Given the description of an element on the screen output the (x, y) to click on. 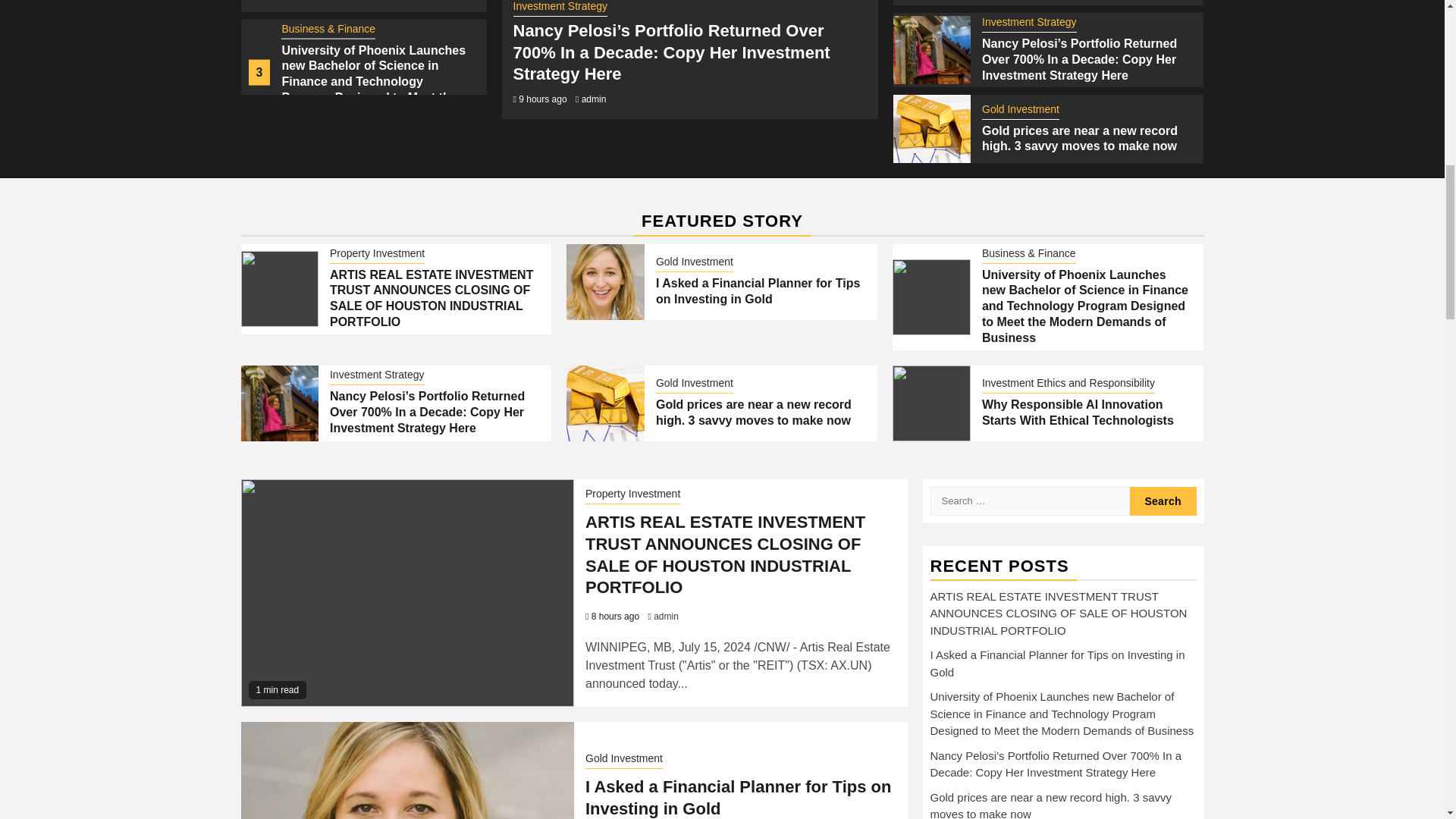
Search (1162, 500)
Search (1162, 500)
